Given the description of an element on the screen output the (x, y) to click on. 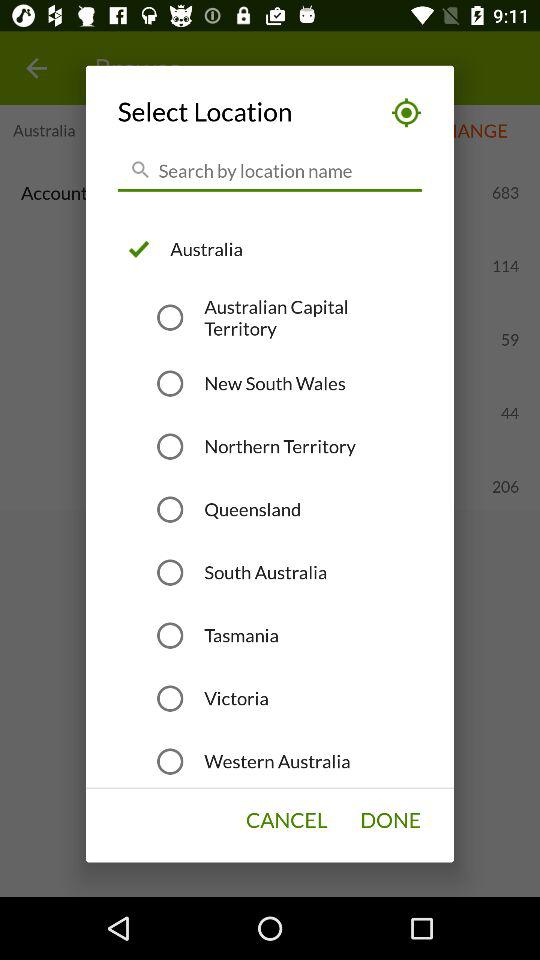
tap the icon below australia item (313, 317)
